Given the description of an element on the screen output the (x, y) to click on. 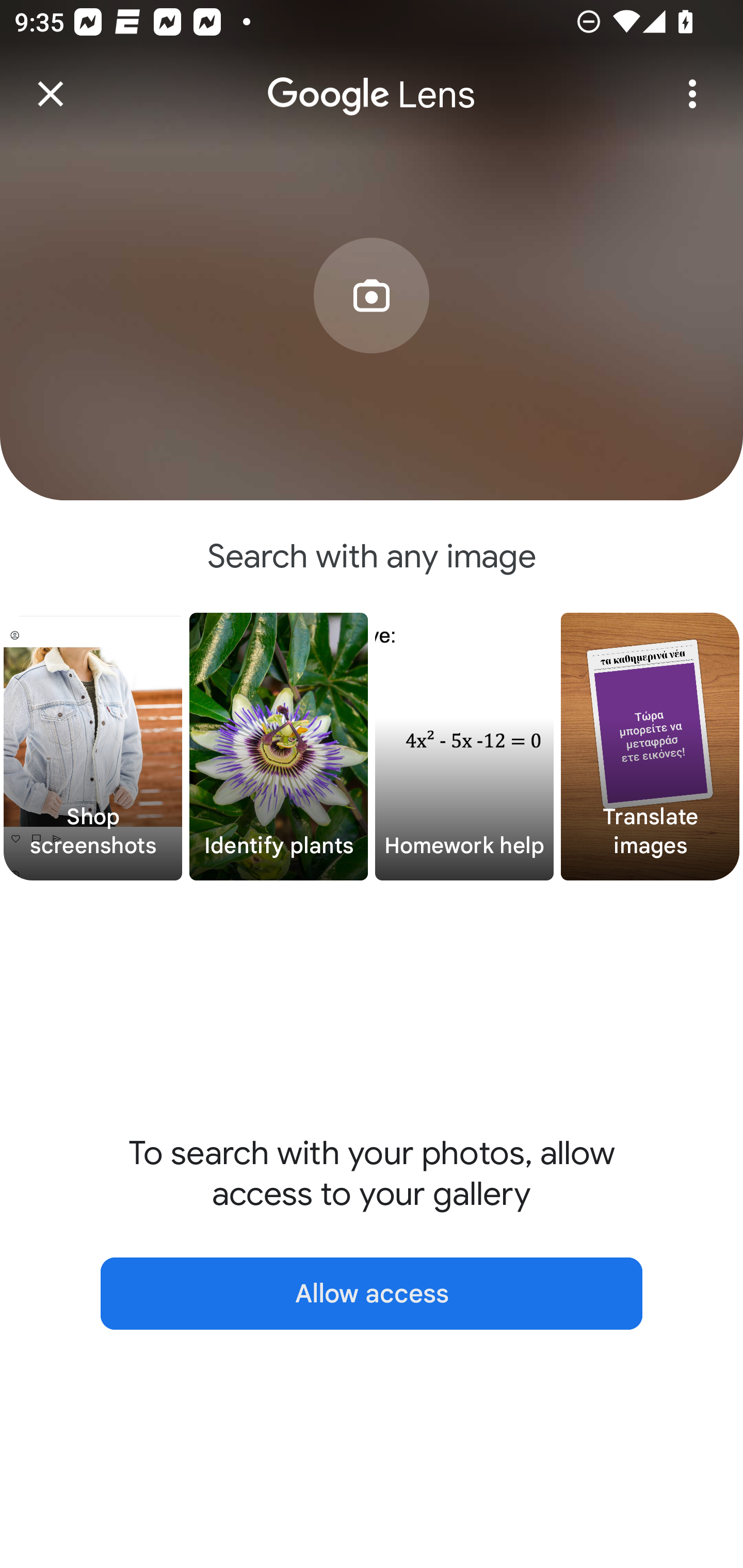
Google Lens Lens (371, 80)
Close (50, 94)
More options (692, 94)
Search with your camera (371, 326)
Shop screenshots (92, 747)
Identify plants (278, 747)
Homework help (464, 747)
Translate images (649, 747)
Allow access (371, 1293)
